Given the description of an element on the screen output the (x, y) to click on. 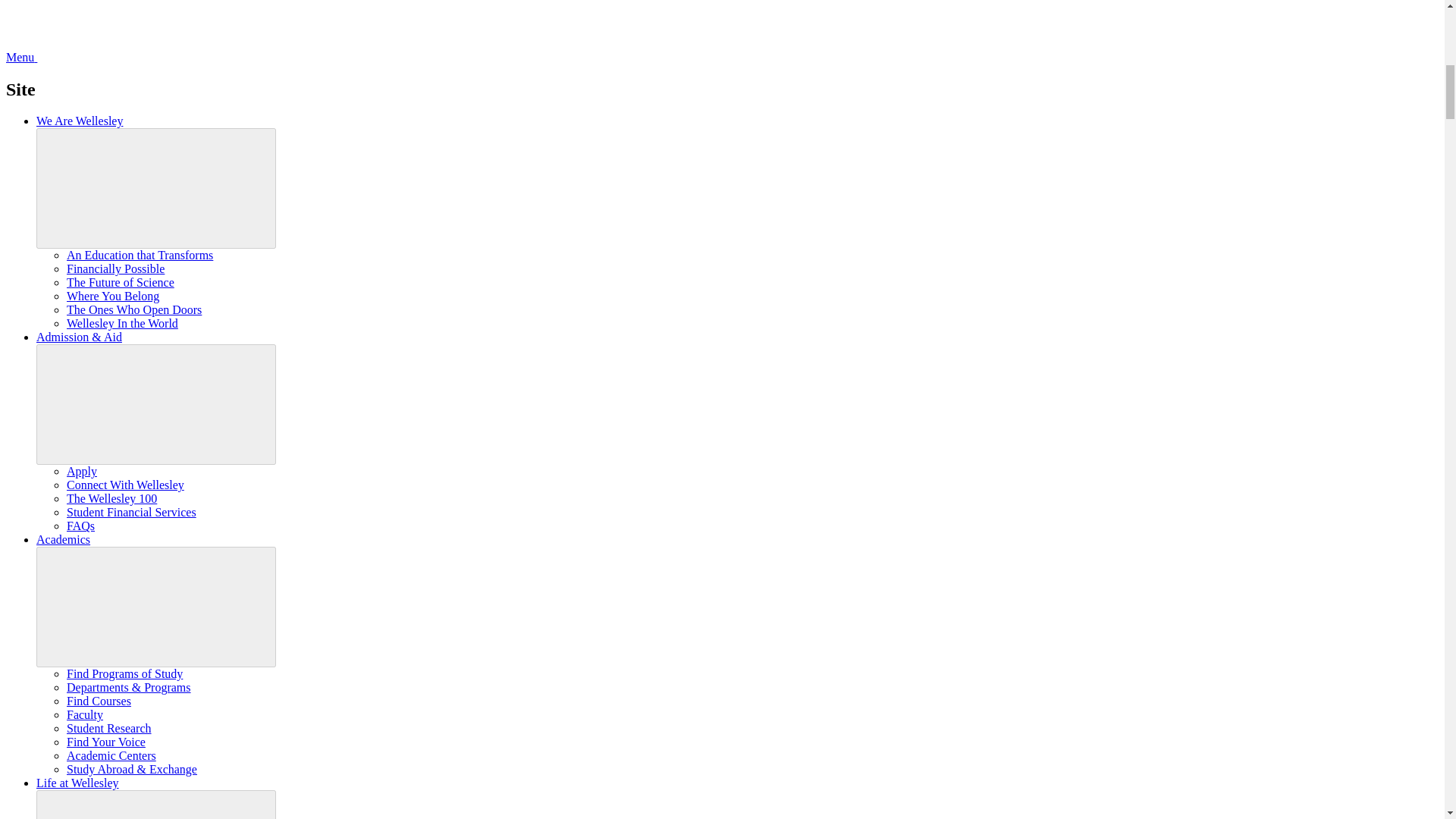
Menu (134, 56)
